Given the description of an element on the screen output the (x, y) to click on. 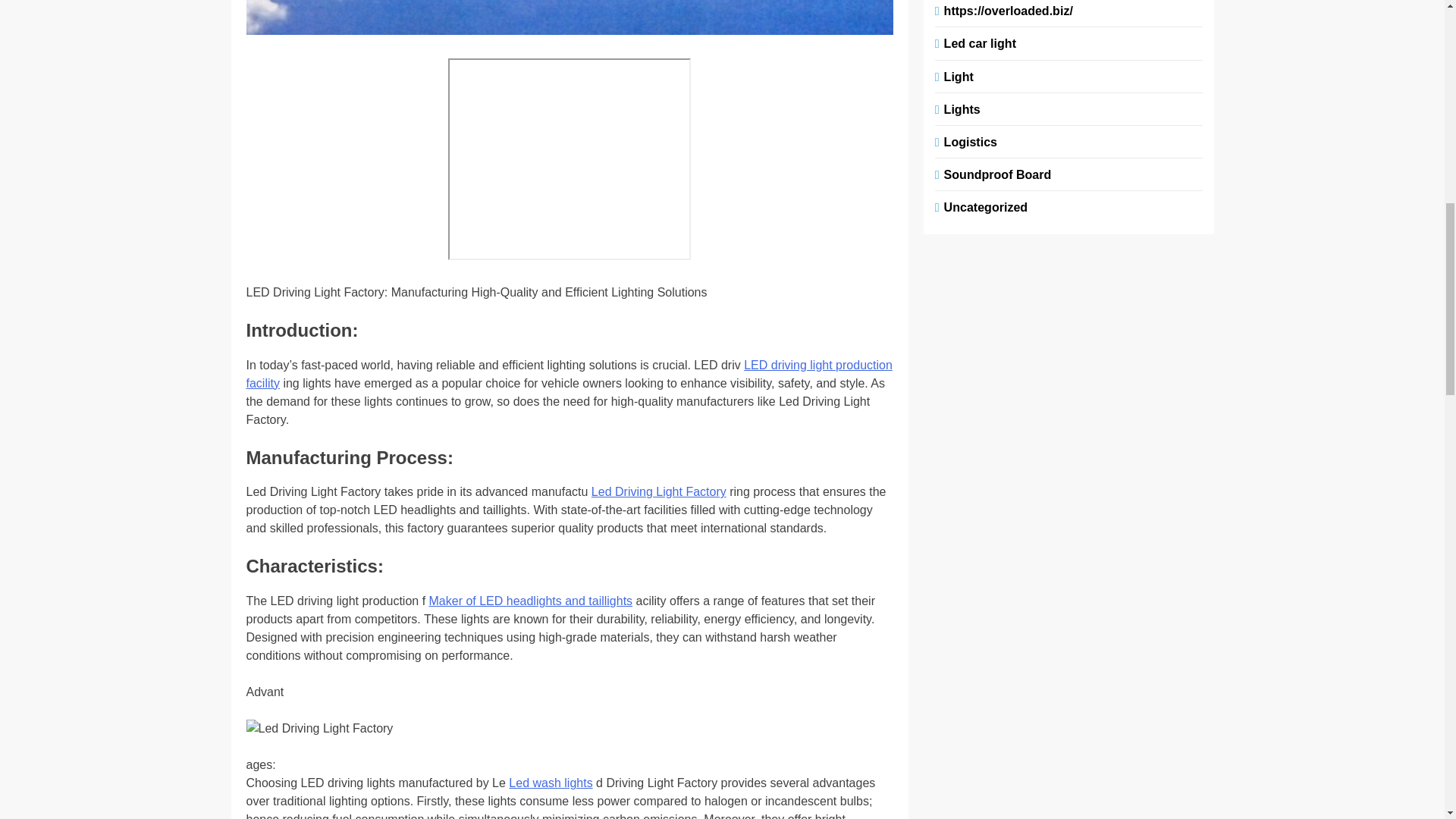
Led wash lights (550, 782)
LED driving light production facility (568, 373)
Maker of LED headlights and taillights (531, 600)
Led Driving Light Factory (658, 491)
